Given the description of an element on the screen output the (x, y) to click on. 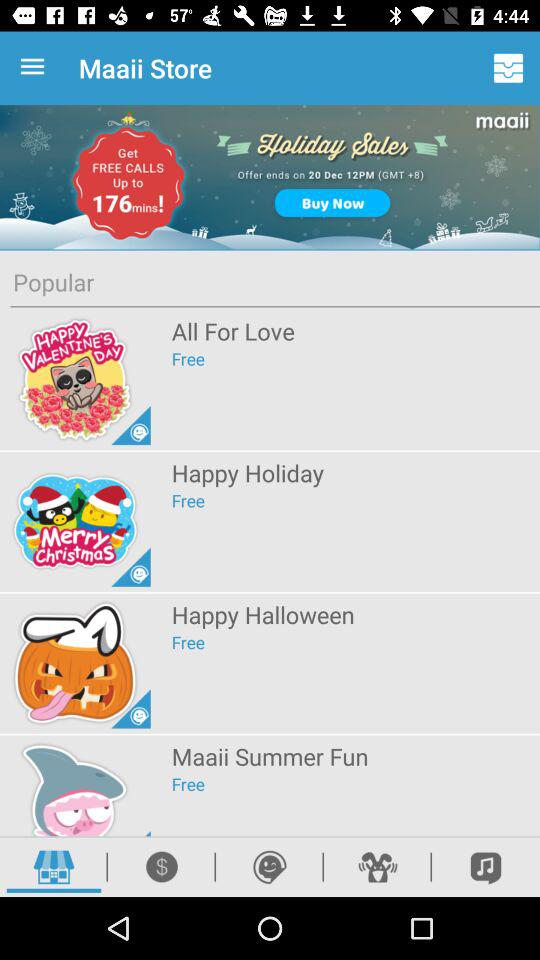
open icon to the left of the maaii store item (36, 68)
